Given the description of an element on the screen output the (x, y) to click on. 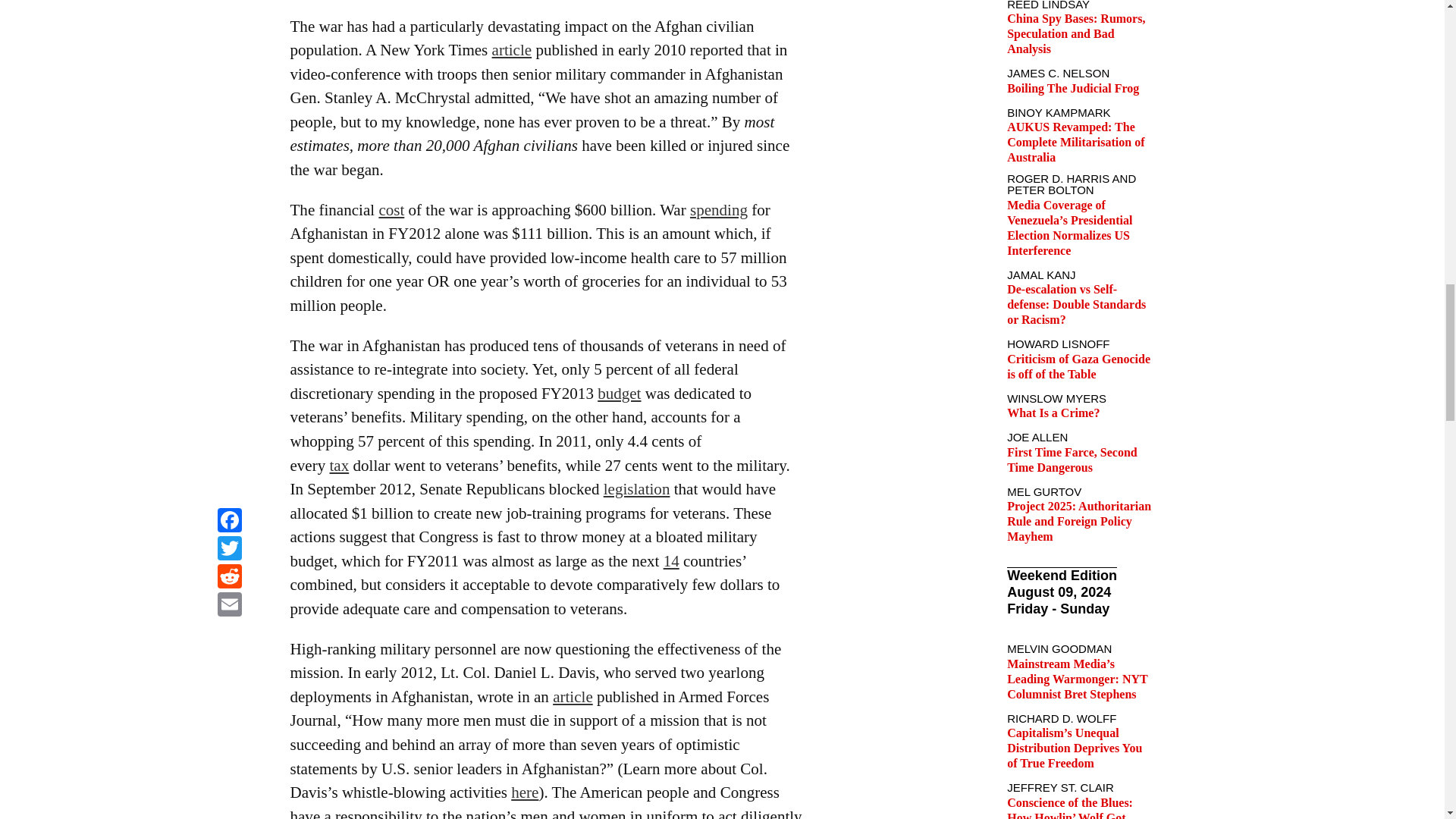
article (512, 49)
spending (719, 209)
cost (391, 209)
budget (618, 393)
